Given the description of an element on the screen output the (x, y) to click on. 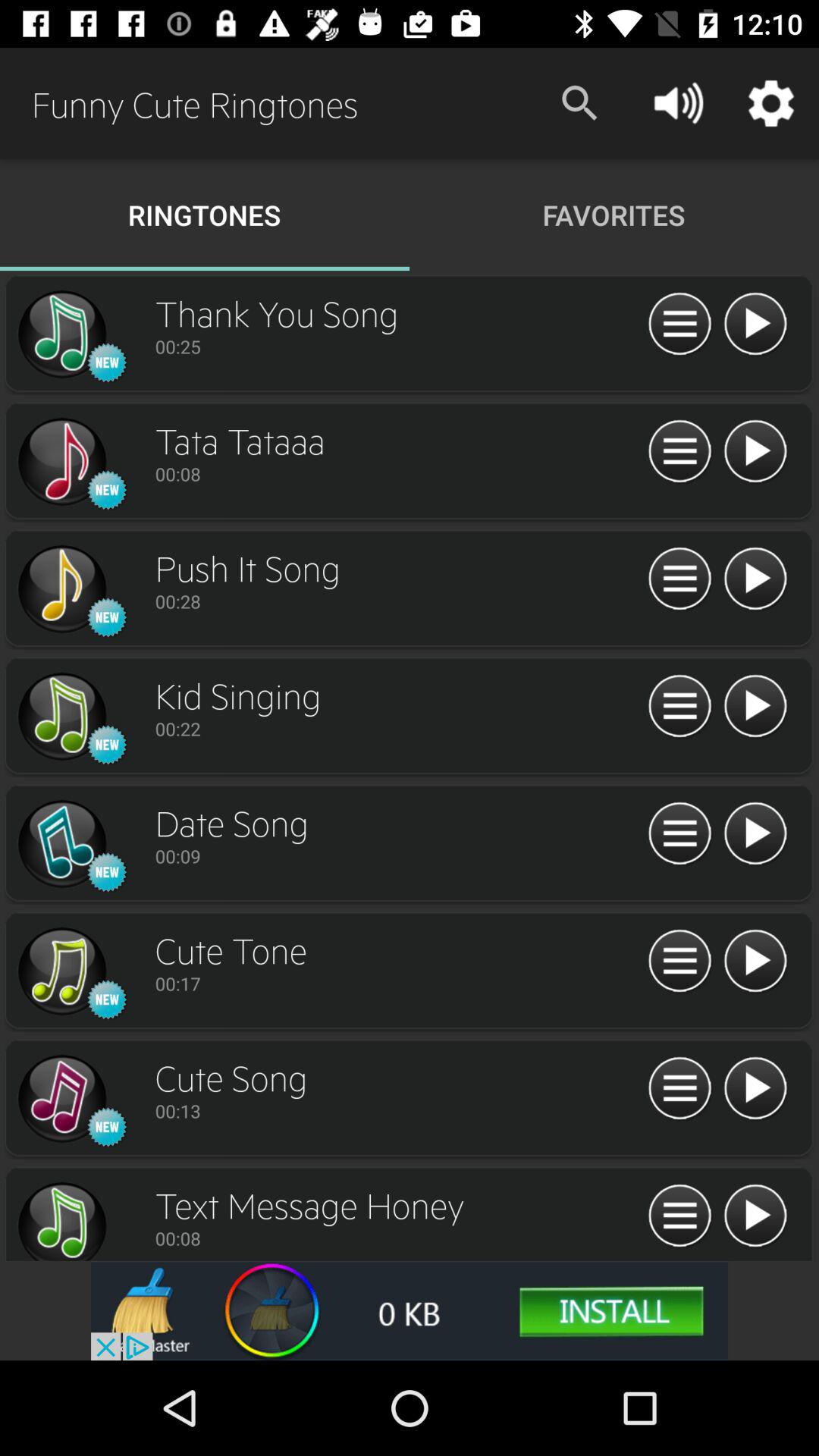
go to menu (679, 1088)
